Given the description of an element on the screen output the (x, y) to click on. 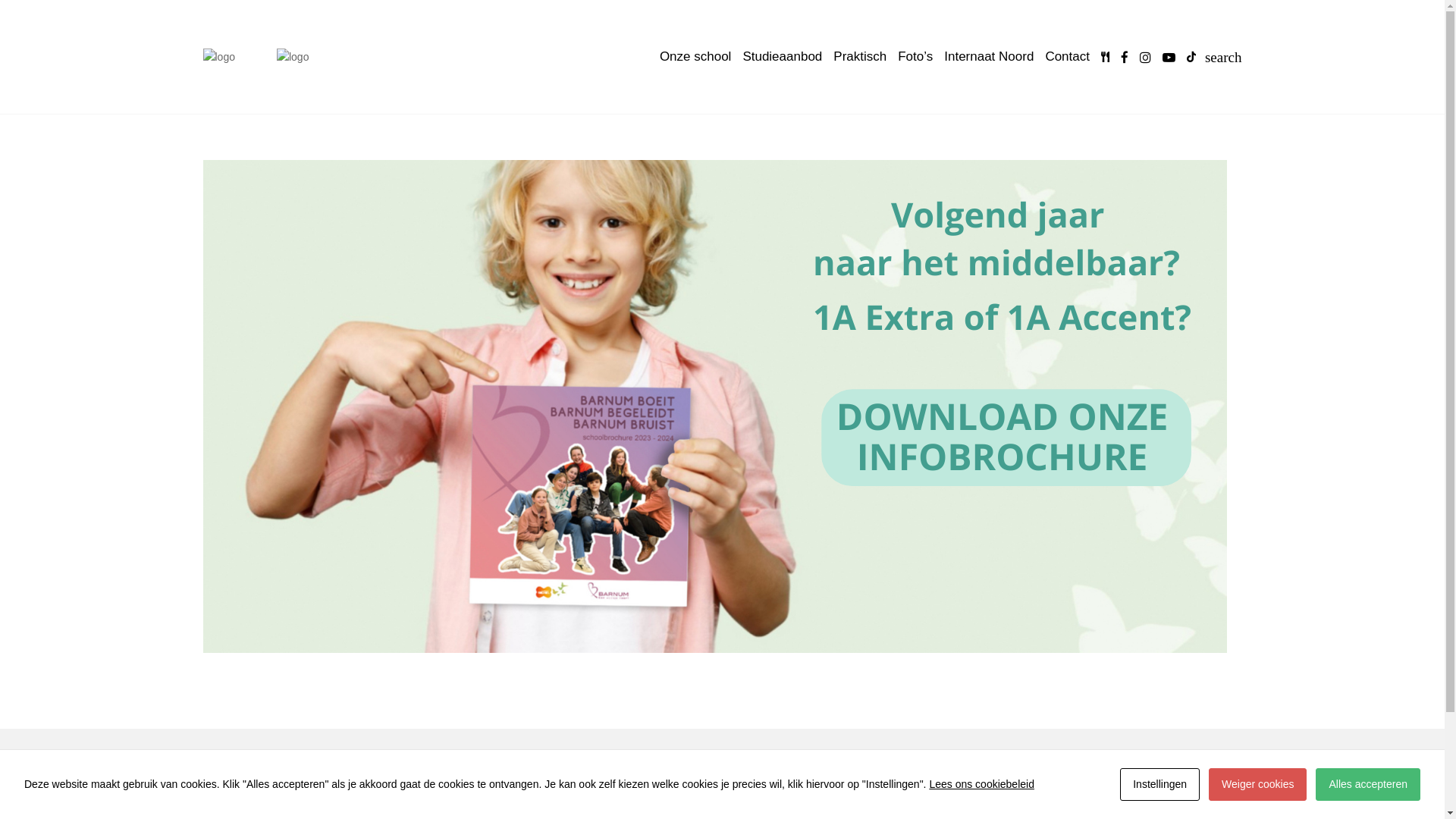
Barnum op Tiktok Element type: hover (1231, 787)
Barnum op Facebook Element type: hover (1155, 787)
Office 365 Element type: text (492, 810)
Weiger cookies Element type: text (1257, 784)
De Leerlingenraad Barnum Element type: text (797, 782)
Praktisch Element type: text (859, 56)
Studieaanbod Element type: text (782, 56)
Onze school Element type: text (695, 56)
Internaat Noord Element type: text (988, 56)
Download onze brochure Element type: hover (714, 406)
Instellingen Element type: text (1159, 784)
Barnum op Youtube Element type: hover (1205, 787)
Barnum op Instragram Element type: hover (1180, 787)
search Element type: text (1223, 57)
Smartschool Barnum Element type: text (517, 782)
Contact Element type: text (1066, 56)
Alles accepteren Element type: text (1367, 784)
Lees ons cookiebeleid Element type: text (981, 784)
Oud-leerlingen Barnum Element type: text (789, 810)
